Given the description of an element on the screen output the (x, y) to click on. 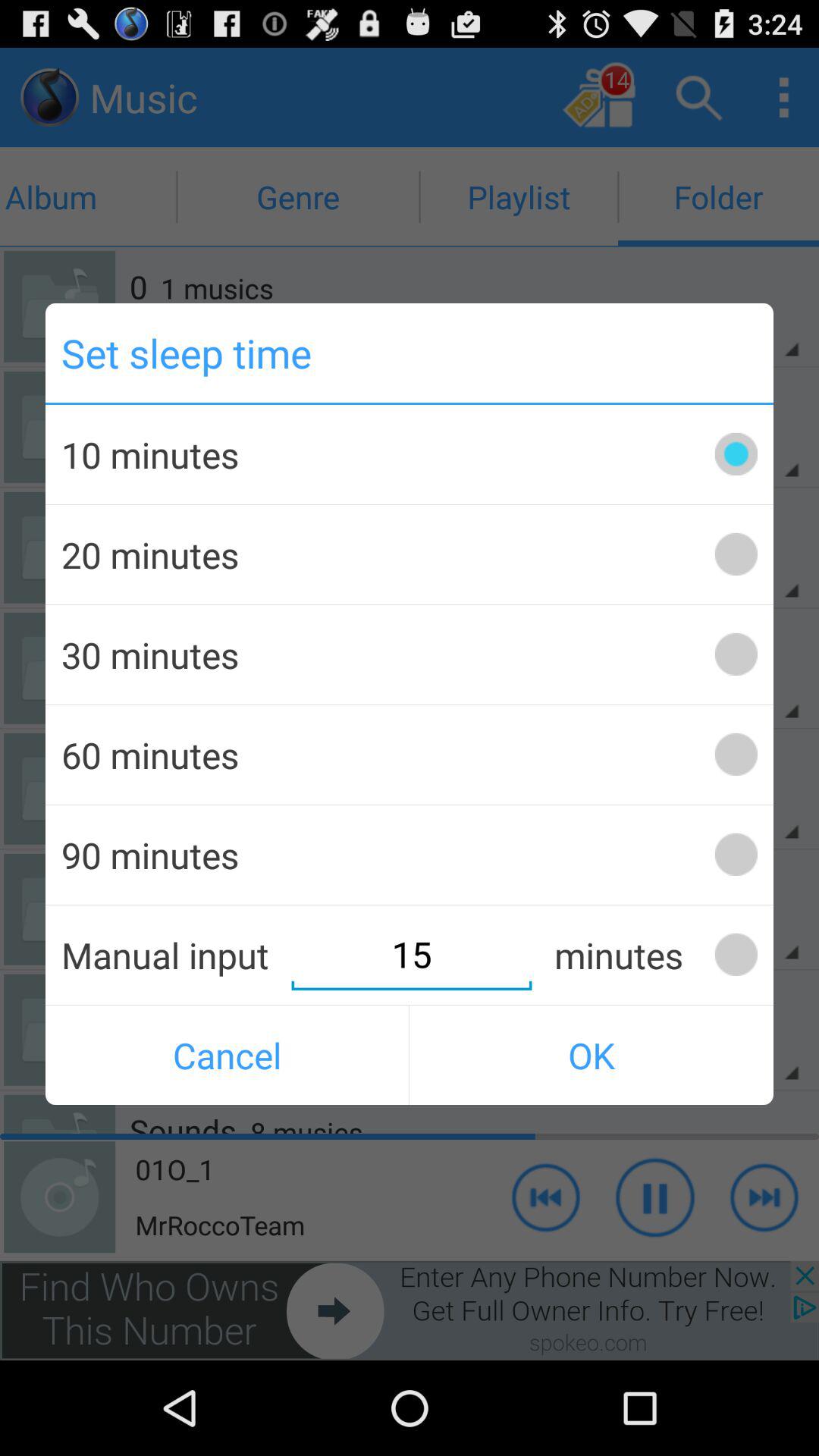
select 10 minutes (735, 454)
